Given the description of an element on the screen output the (x, y) to click on. 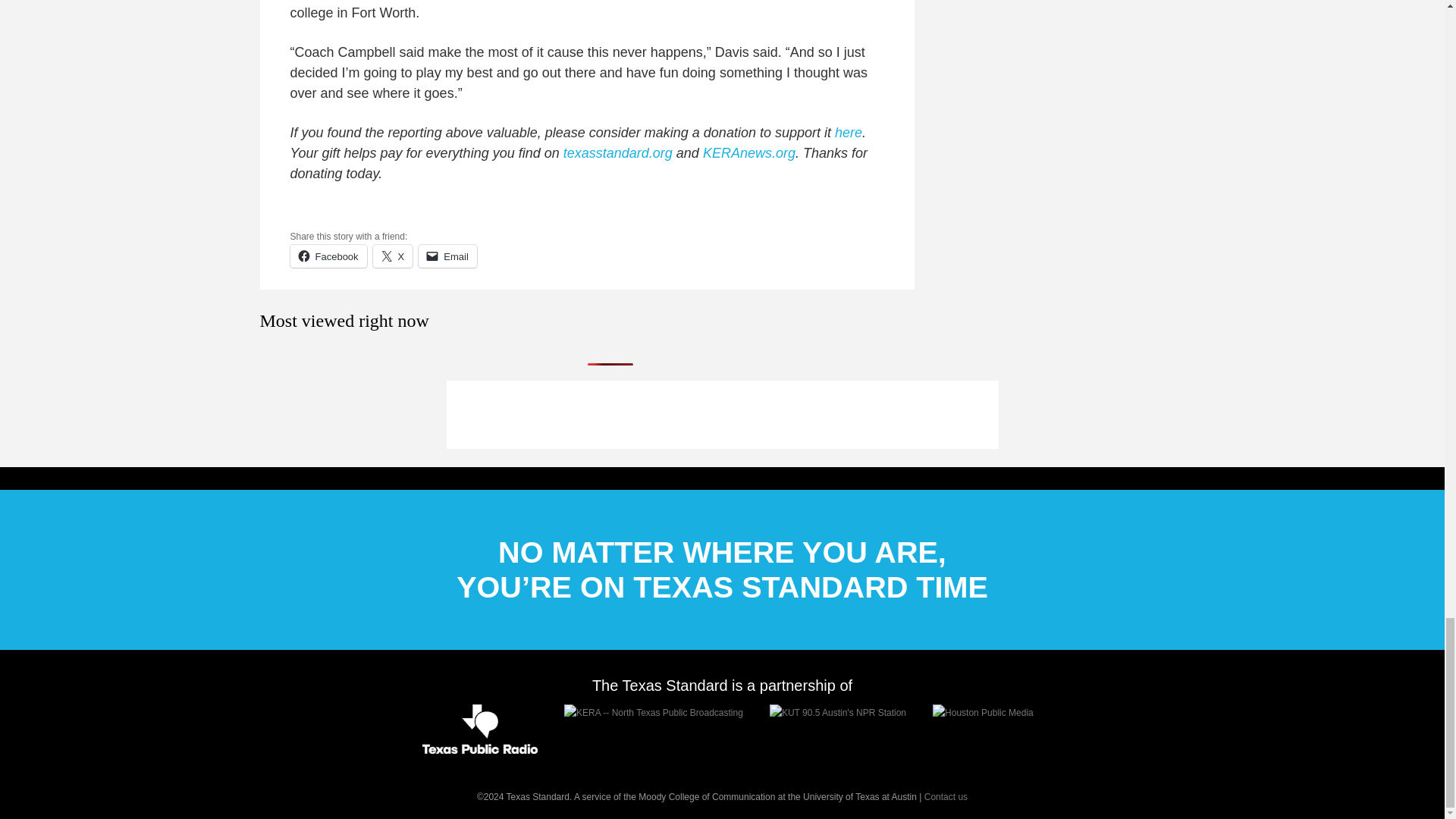
Click to share on Facebook (327, 255)
Click to email a link to a friend (448, 255)
Click to share on X (392, 255)
